Given the description of an element on the screen output the (x, y) to click on. 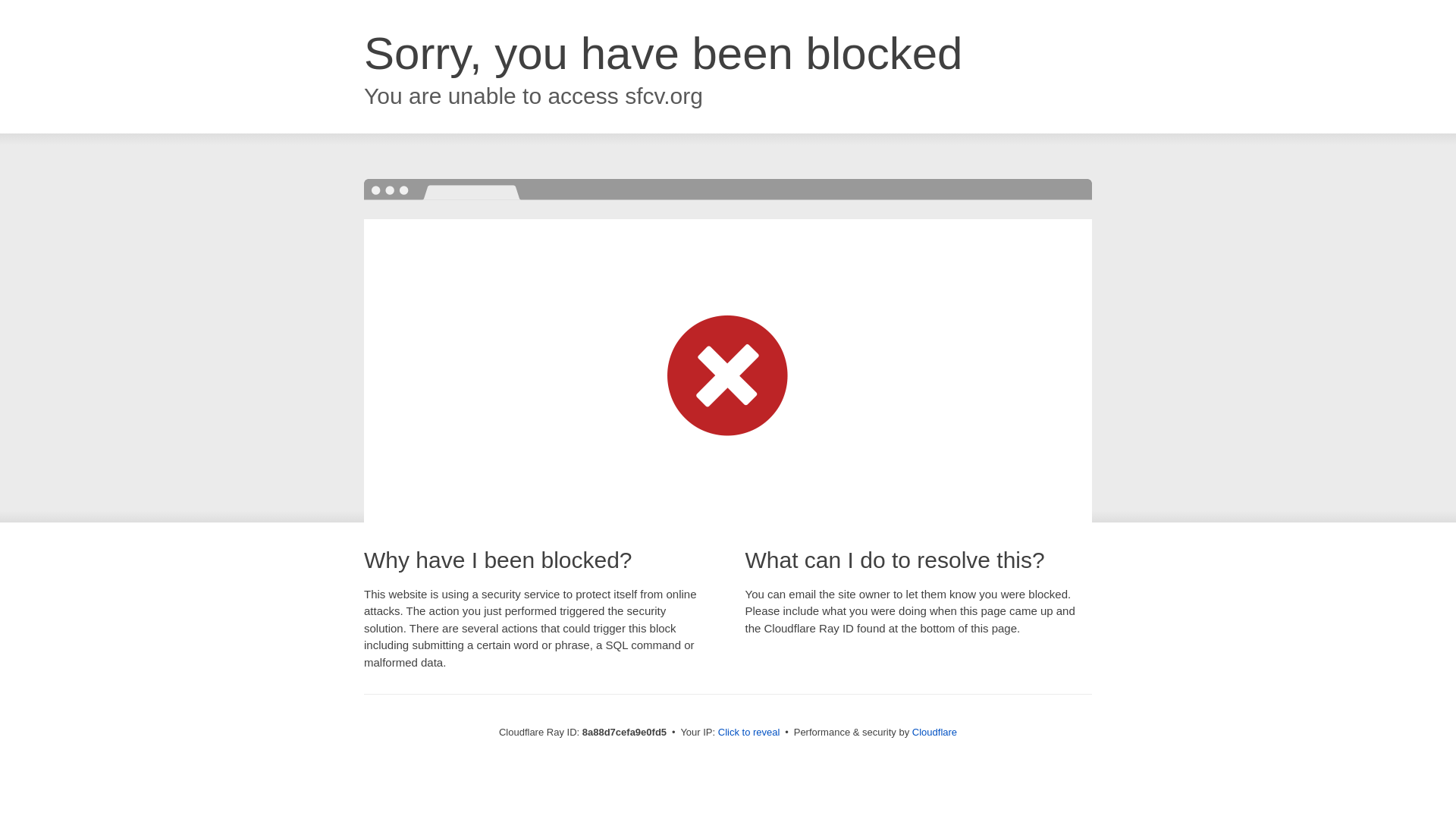
Click to reveal (748, 732)
Cloudflare (934, 731)
